Given the description of an element on the screen output the (x, y) to click on. 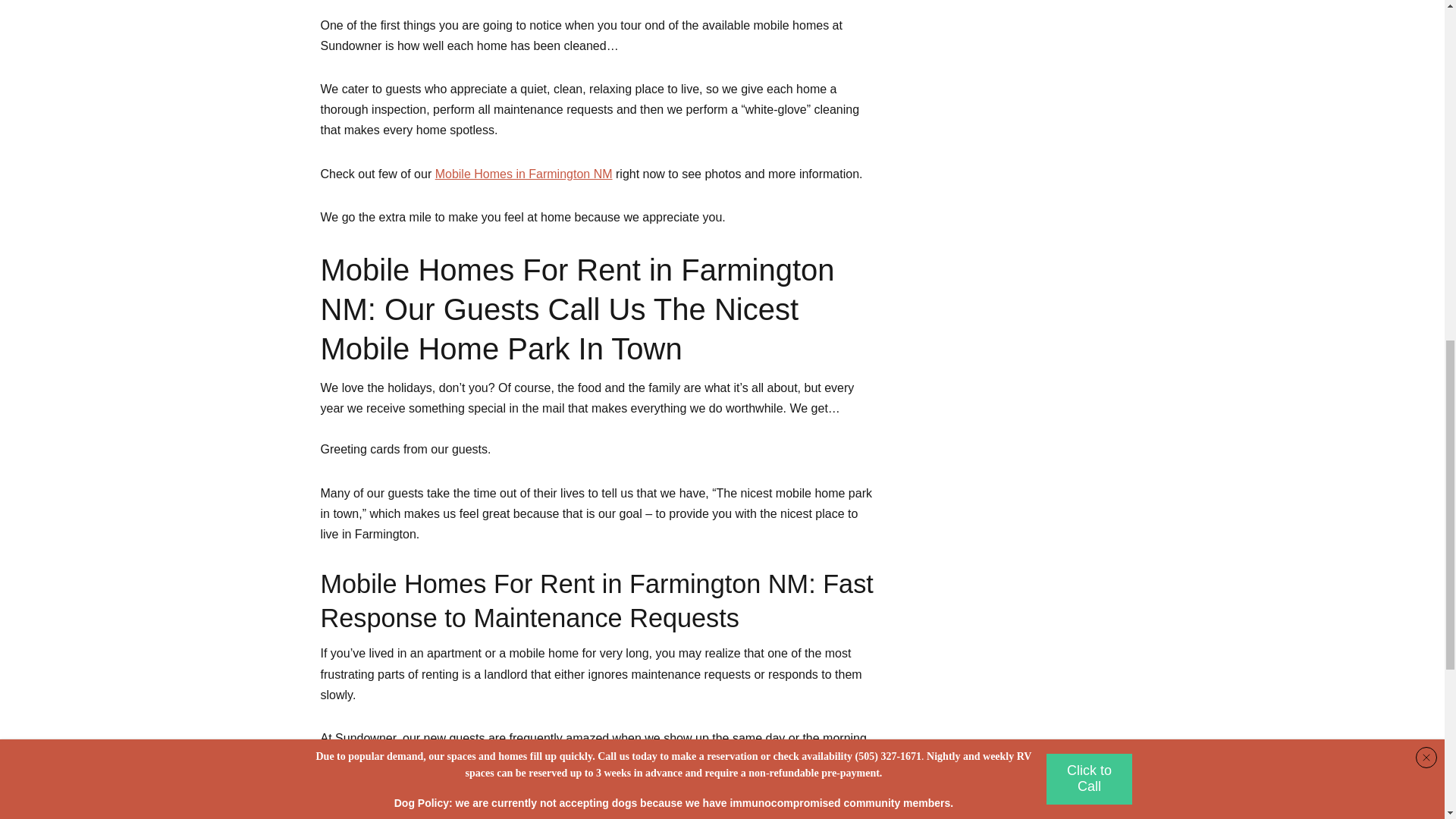
Mobile Homes in Farmington NM (523, 173)
